Given the description of an element on the screen output the (x, y) to click on. 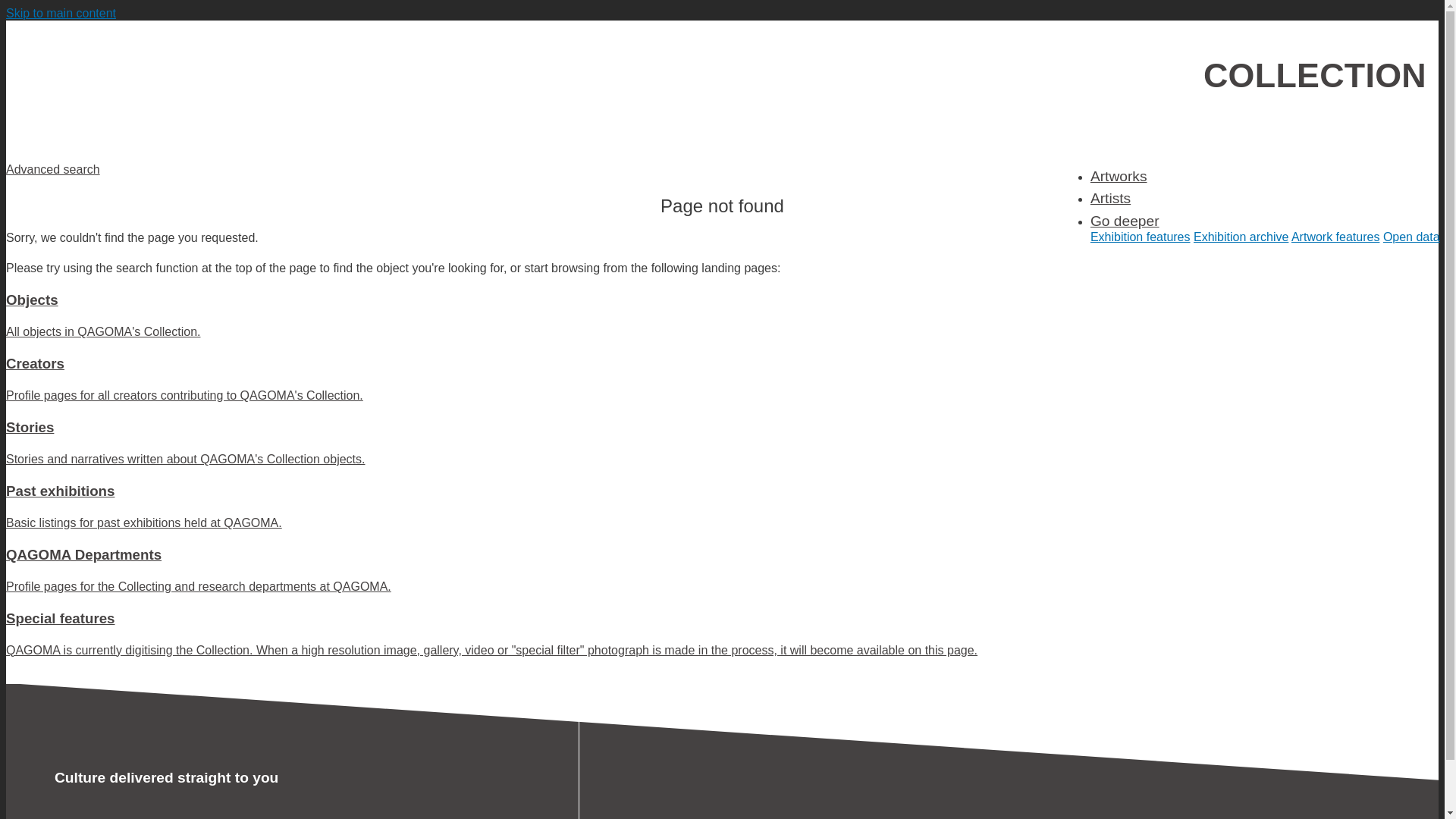
Artwork features (1334, 236)
Advanced search (52, 169)
Skip to main content (60, 12)
Exhibition archive (1240, 236)
Artists (1110, 198)
Artworks (1118, 176)
QAGOMA (137, 78)
Exhibition features (1140, 236)
Go deeper (1124, 220)
COLLECTION (1315, 75)
